Given the description of an element on the screen output the (x, y) to click on. 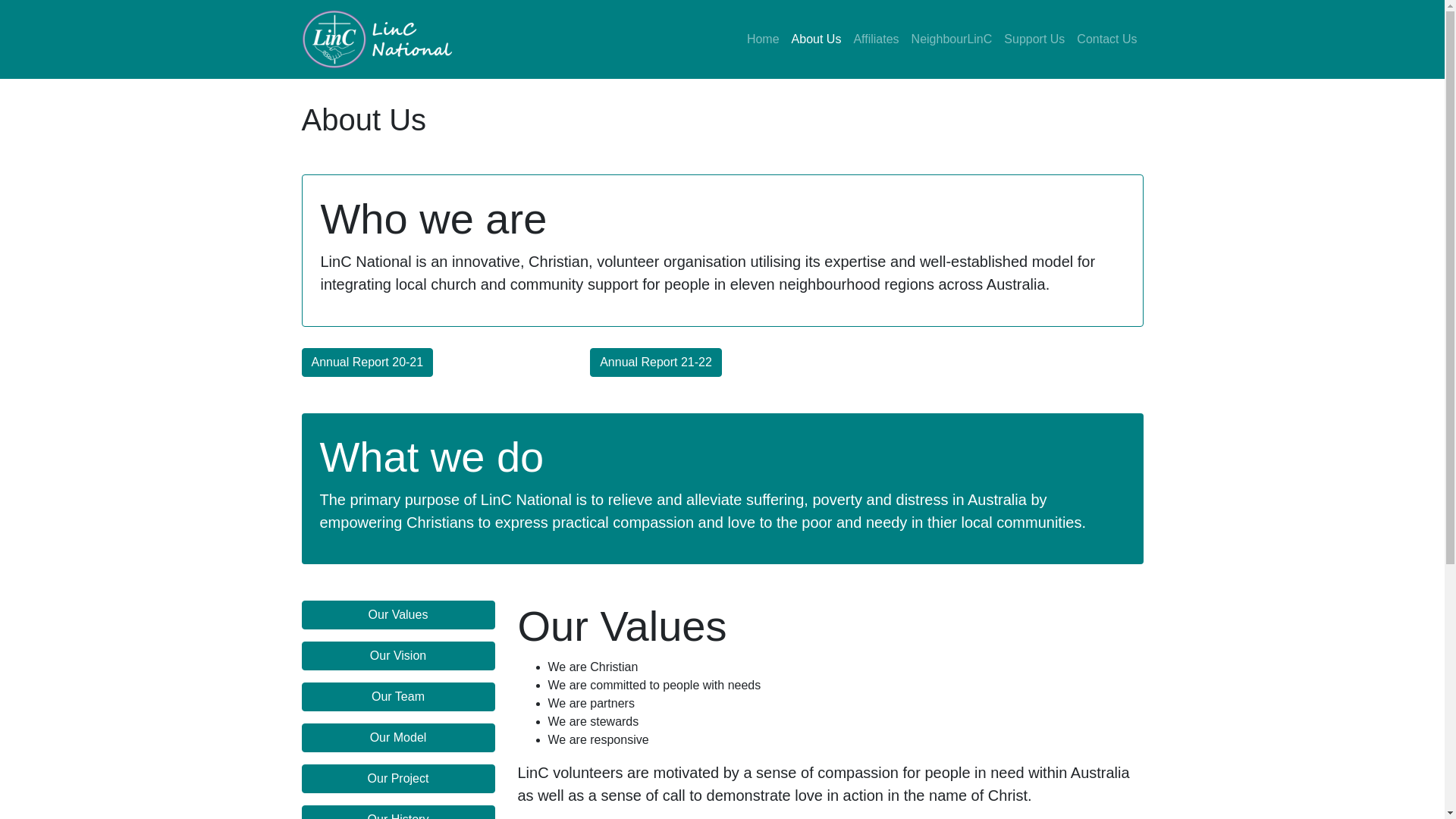
About Us Element type: text (816, 39)
Contact Us Element type: text (1106, 39)
Home Element type: text (762, 39)
NeighbourLinC Element type: text (951, 39)
Our Vision Element type: text (398, 655)
Annual Report 20-21 Element type: text (367, 362)
Annual Report 21-22 Element type: text (655, 362)
Our Team Element type: text (398, 696)
Our Model Element type: text (398, 737)
Our Project Element type: text (398, 778)
Support Us Element type: text (1033, 39)
Our Values Element type: text (398, 614)
Affiliates Element type: text (875, 39)
